Given the description of an element on the screen output the (x, y) to click on. 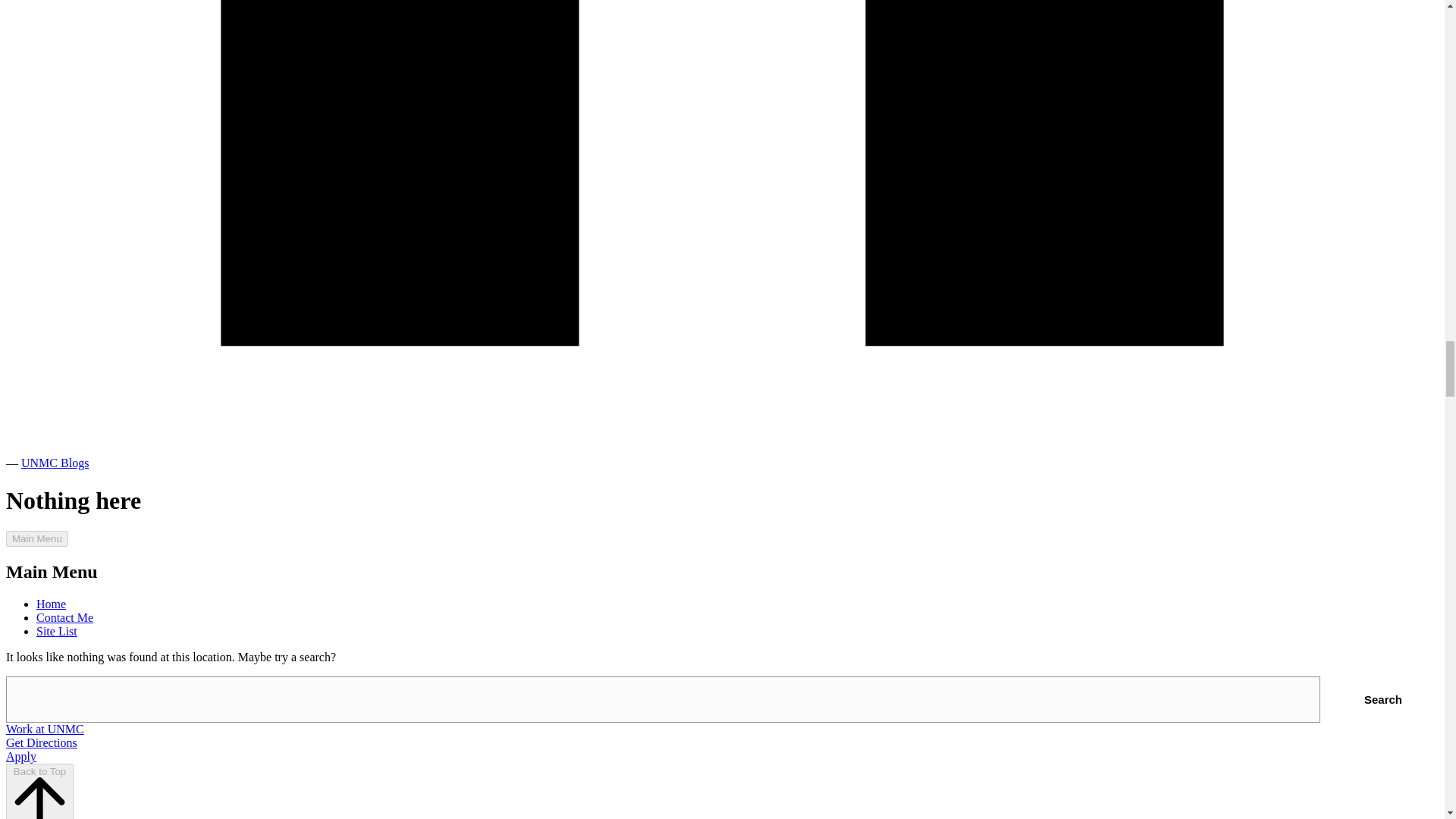
Back to Top (39, 791)
